Given the description of an element on the screen output the (x, y) to click on. 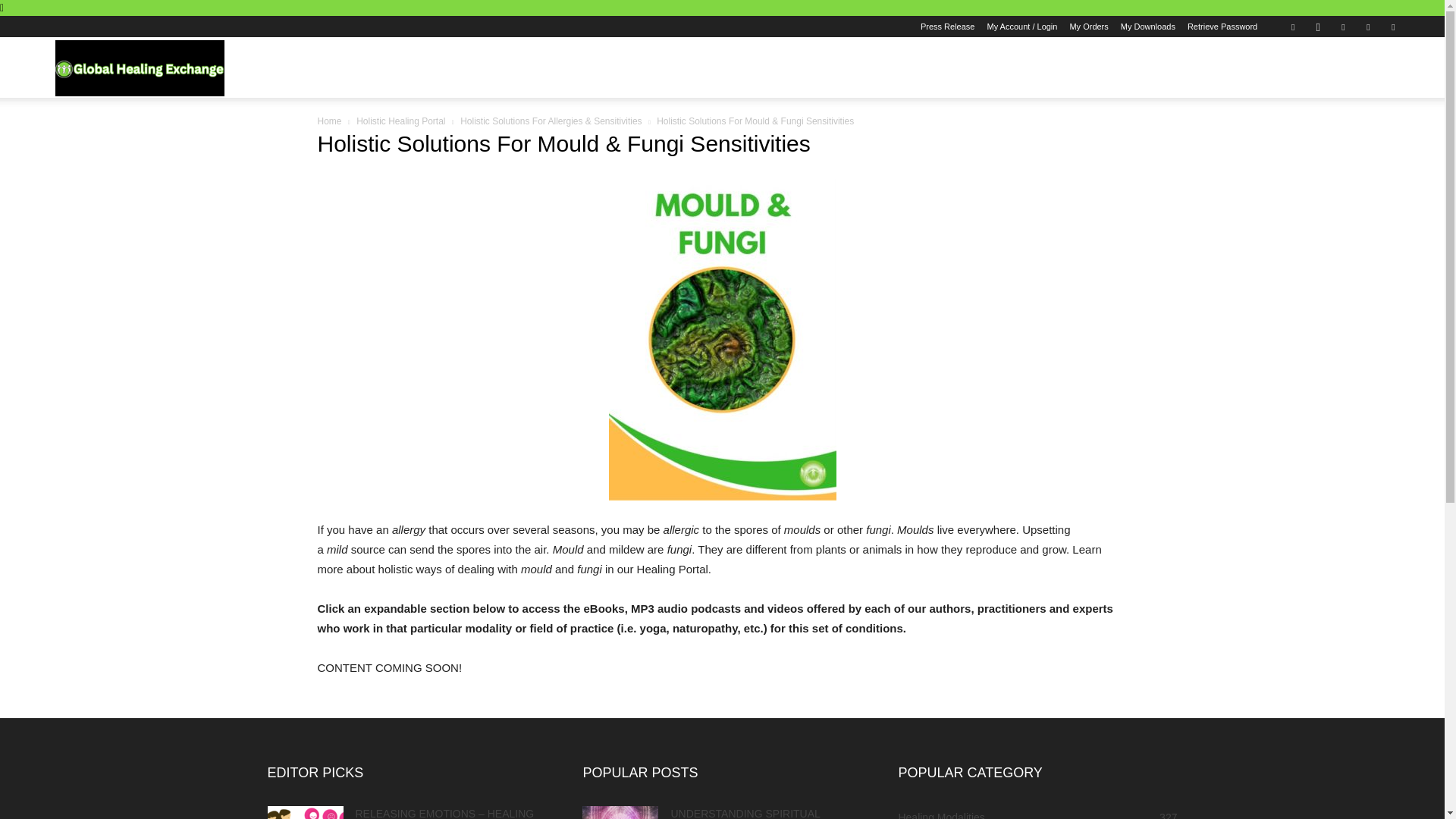
Twitter (1367, 25)
Instagram (1317, 25)
Holistic Healing Portal (400, 121)
A Holistic Approach To Health And Wellbeing (139, 67)
Youtube (1393, 25)
Pinterest (1343, 25)
Facebook (1292, 25)
